Given the description of an element on the screen output the (x, y) to click on. 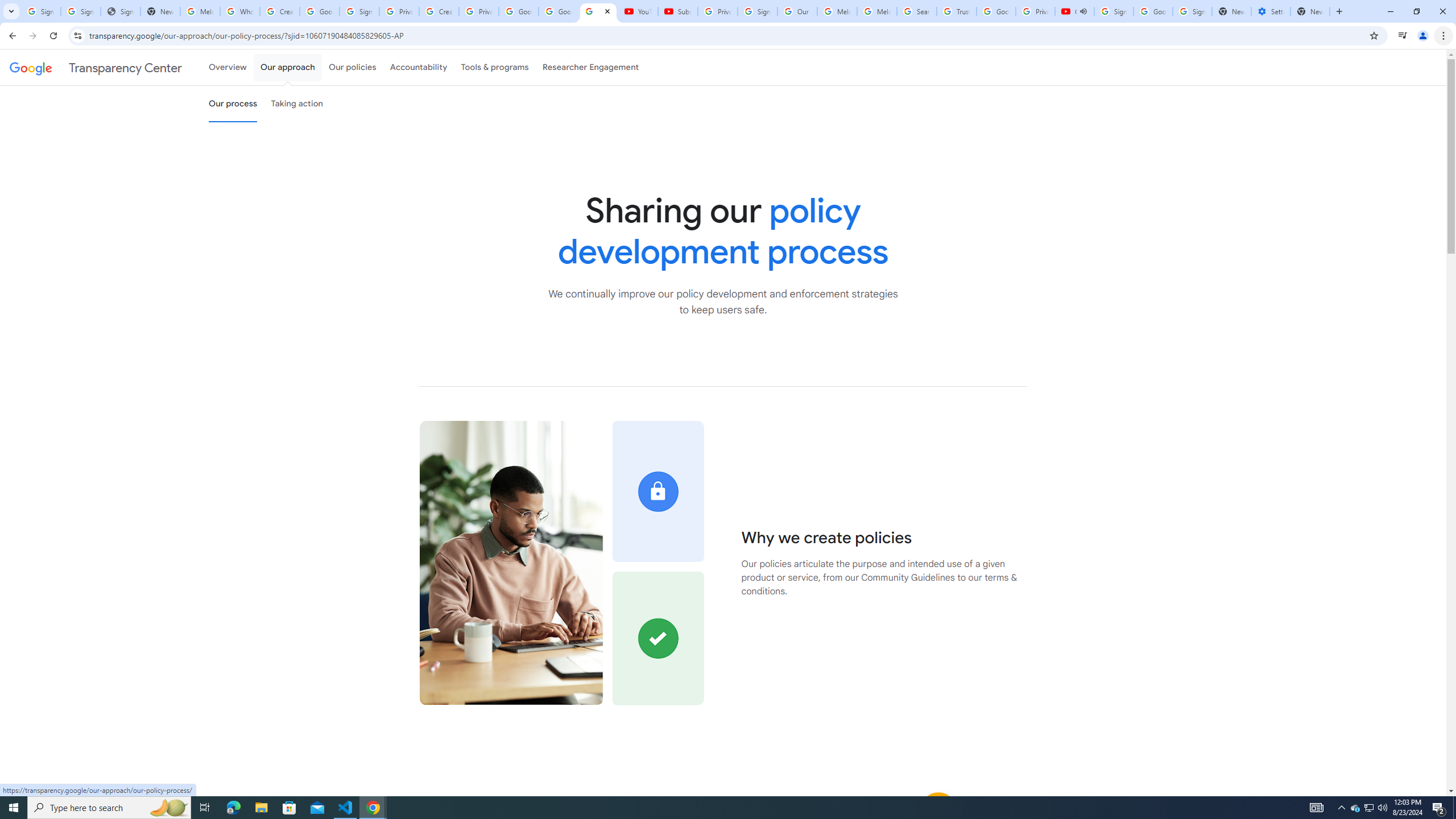
Sign in - Google Accounts (1113, 11)
Accountability (418, 67)
Tools & programs (494, 67)
Our process (232, 103)
